Given the description of an element on the screen output the (x, y) to click on. 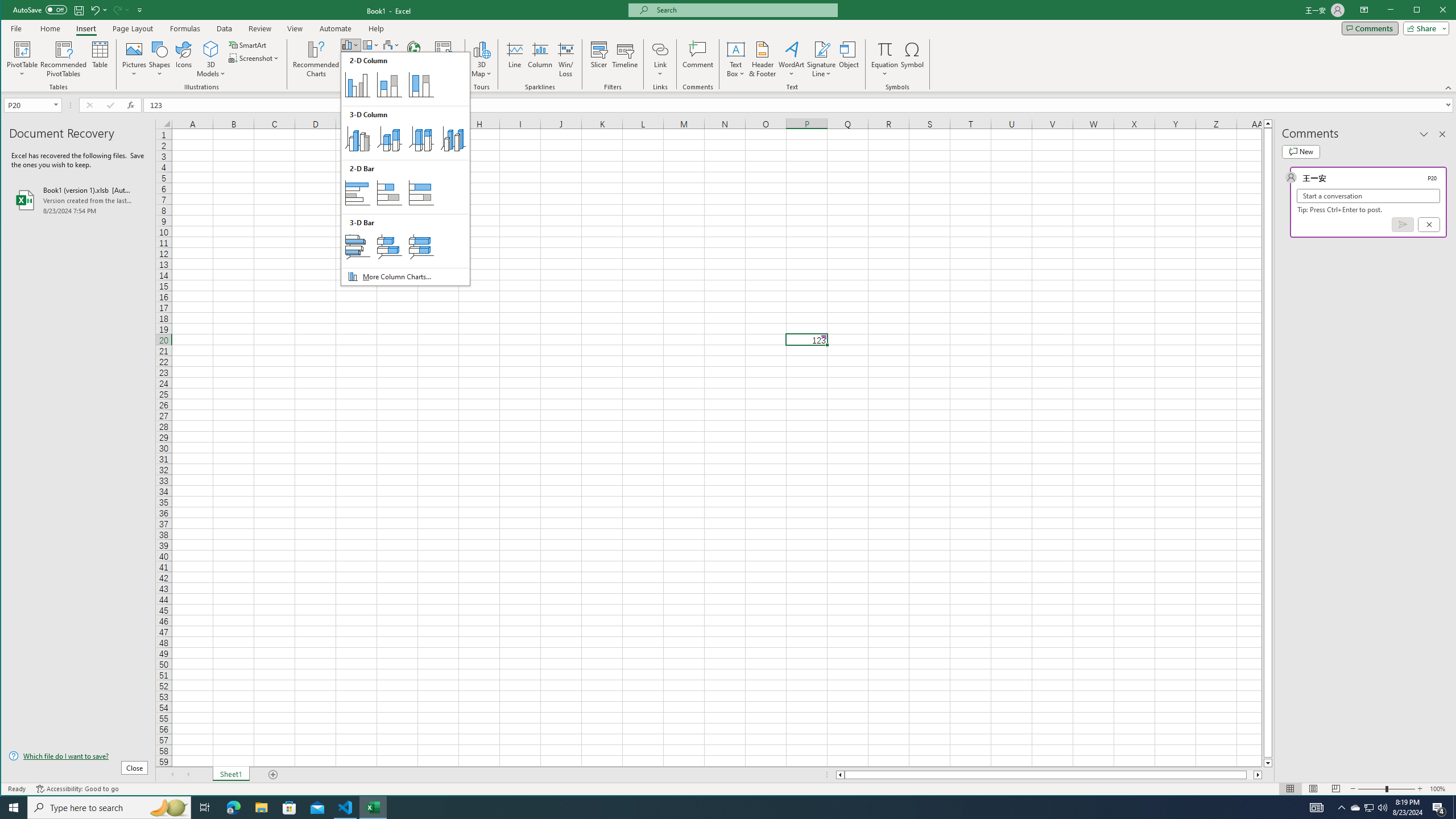
Insert Hierarchy Chart (371, 44)
AutomationID: 4105 (1316, 807)
Class: MsoCommandBar (728, 788)
Show desktop (1454, 807)
Undo (94, 9)
Book1 (version 1).xlsb  [AutoRecovered] (78, 199)
Insert Waterfall, Funnel, Stock, Surface, or Radar Chart (391, 44)
SmartArt... (248, 44)
Automate (336, 28)
Redo (116, 9)
Link (659, 59)
Screenshot (254, 57)
Task View (204, 807)
Comment (697, 59)
